Given the description of an element on the screen output the (x, y) to click on. 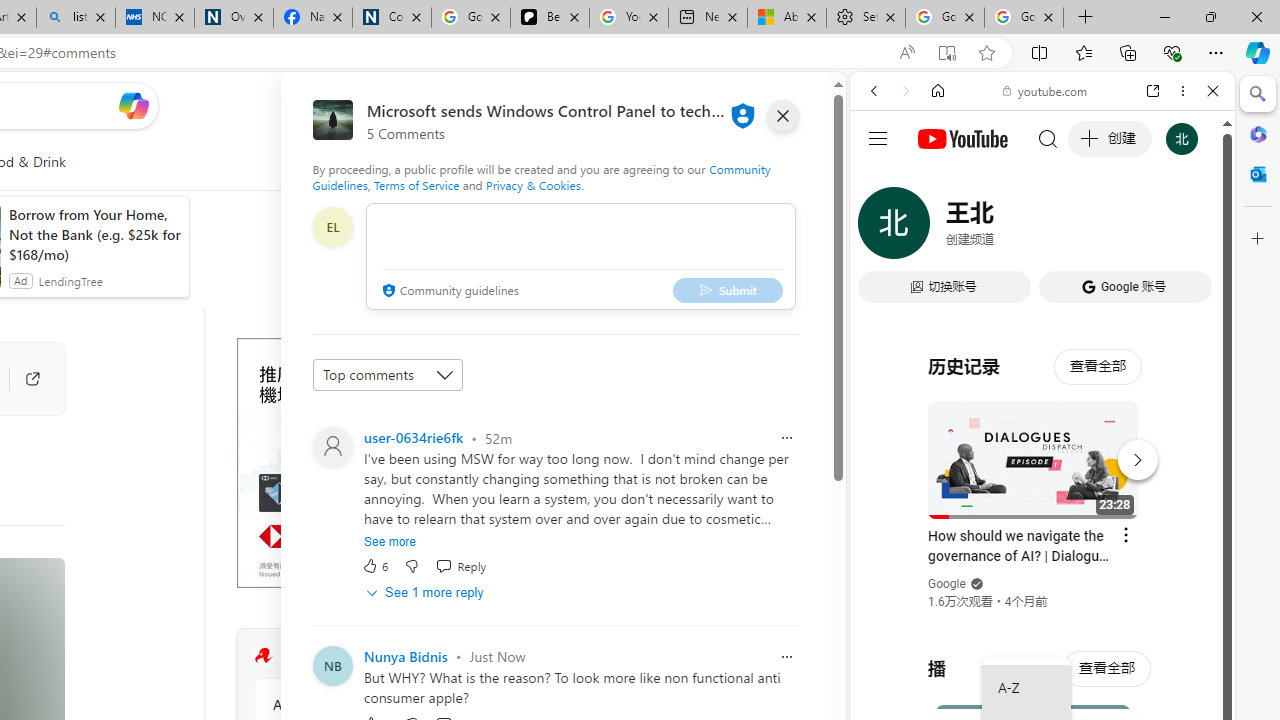
Class: b_serphb (1190, 229)
YouTube (1034, 296)
Search the web (1051, 137)
list of asthma inhalers uk - Search (76, 17)
Preferences (1189, 228)
Search videos from youtube.com (1005, 657)
Nunya Bidnis (405, 655)
